Given the description of an element on the screen output the (x, y) to click on. 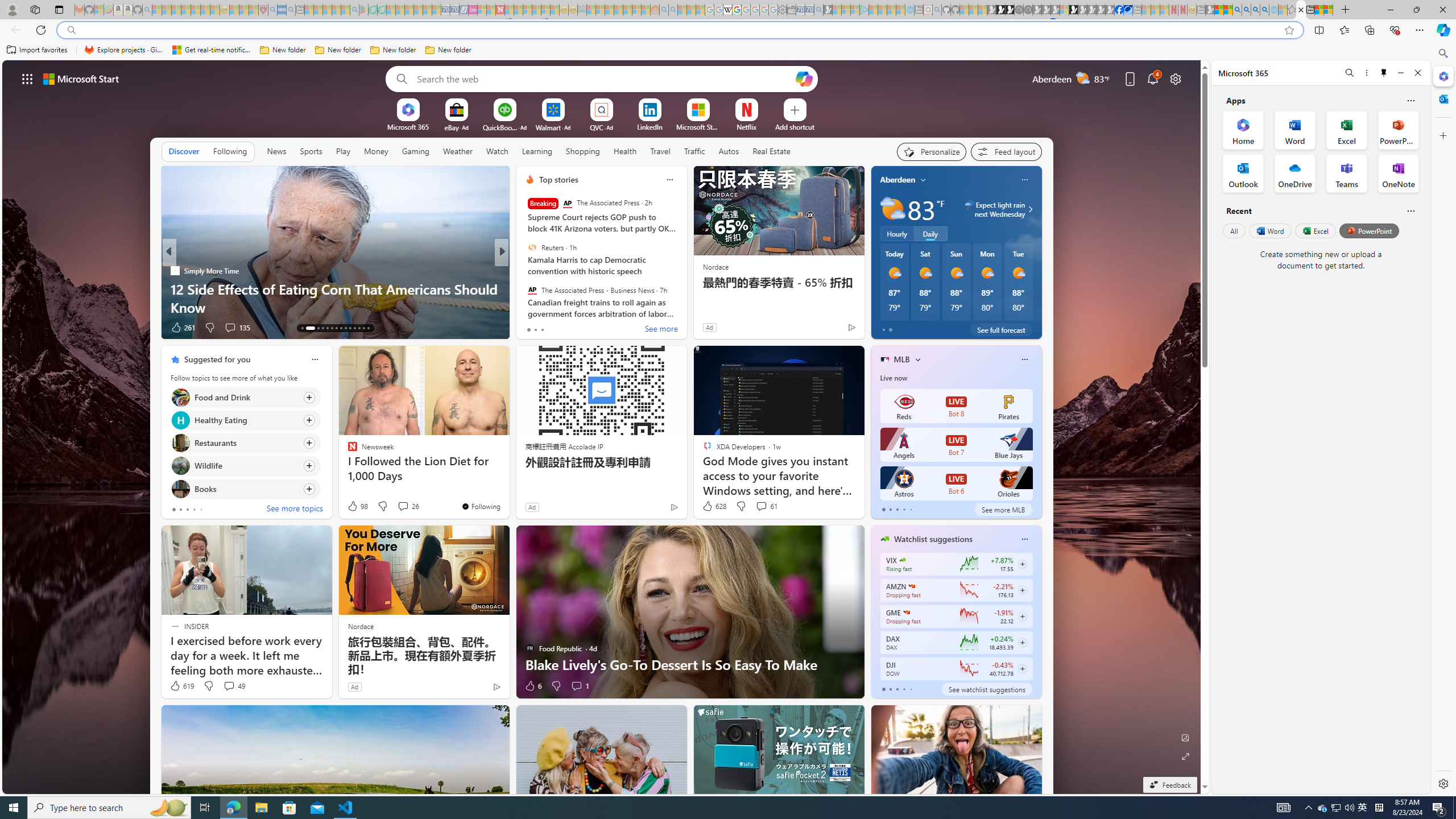
How to restart your PC with just the keyboard (684, 307)
Click to follow topic Healthy Eating (245, 419)
Play Zoo Boom in your browser | Games from Microsoft Start (1000, 9)
Autos (729, 151)
